Given the description of an element on the screen output the (x, y) to click on. 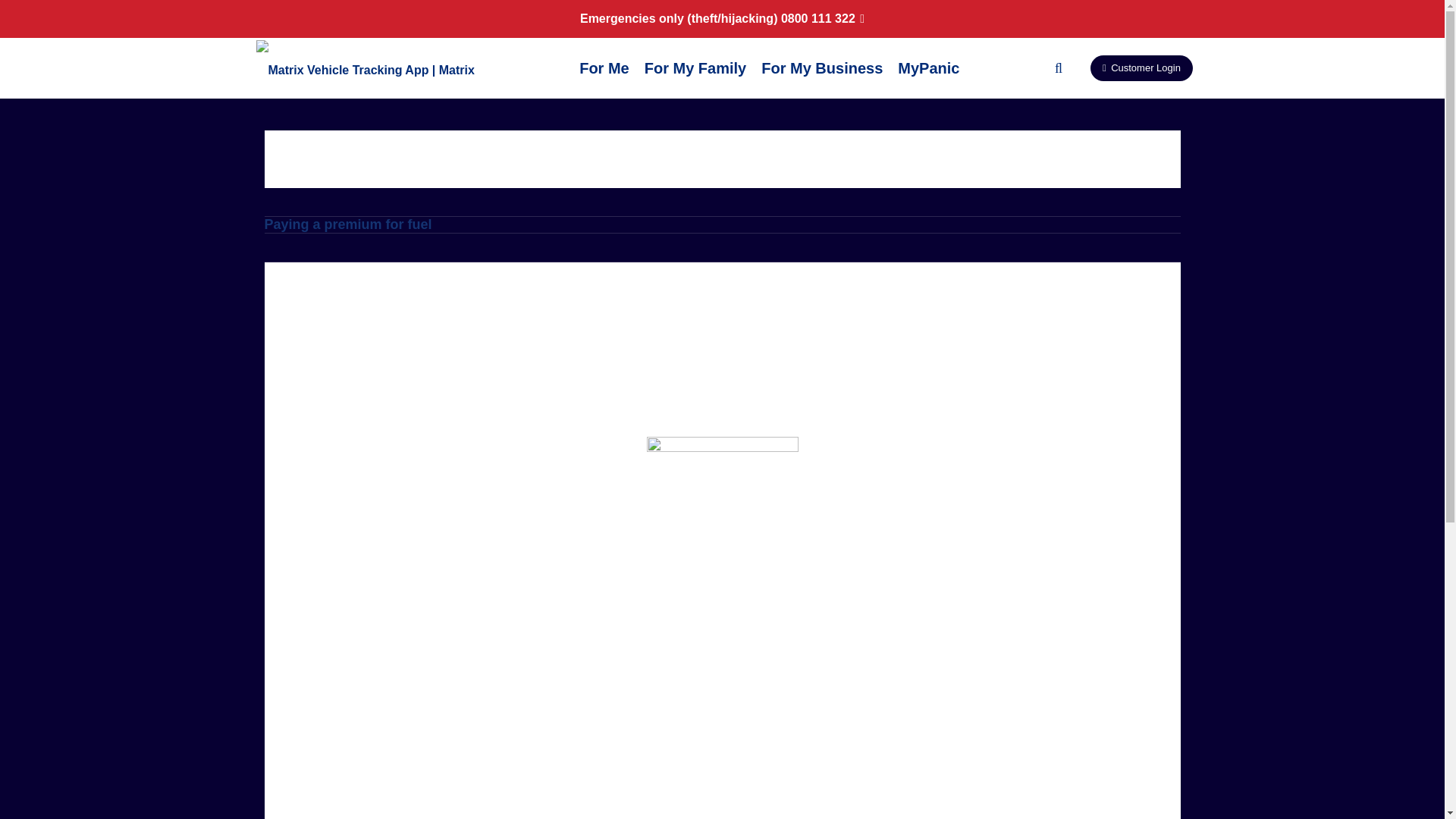
For My Family (695, 67)
roadside assist (710, 778)
harsh acceleration, speeding, cornering and braking (508, 764)
MyPanic (927, 67)
Customer Login (1141, 68)
MX2 (306, 809)
MX3 (357, 809)
Matrix (333, 750)
For My Business (821, 67)
For Me (604, 67)
